Given the description of an element on the screen output the (x, y) to click on. 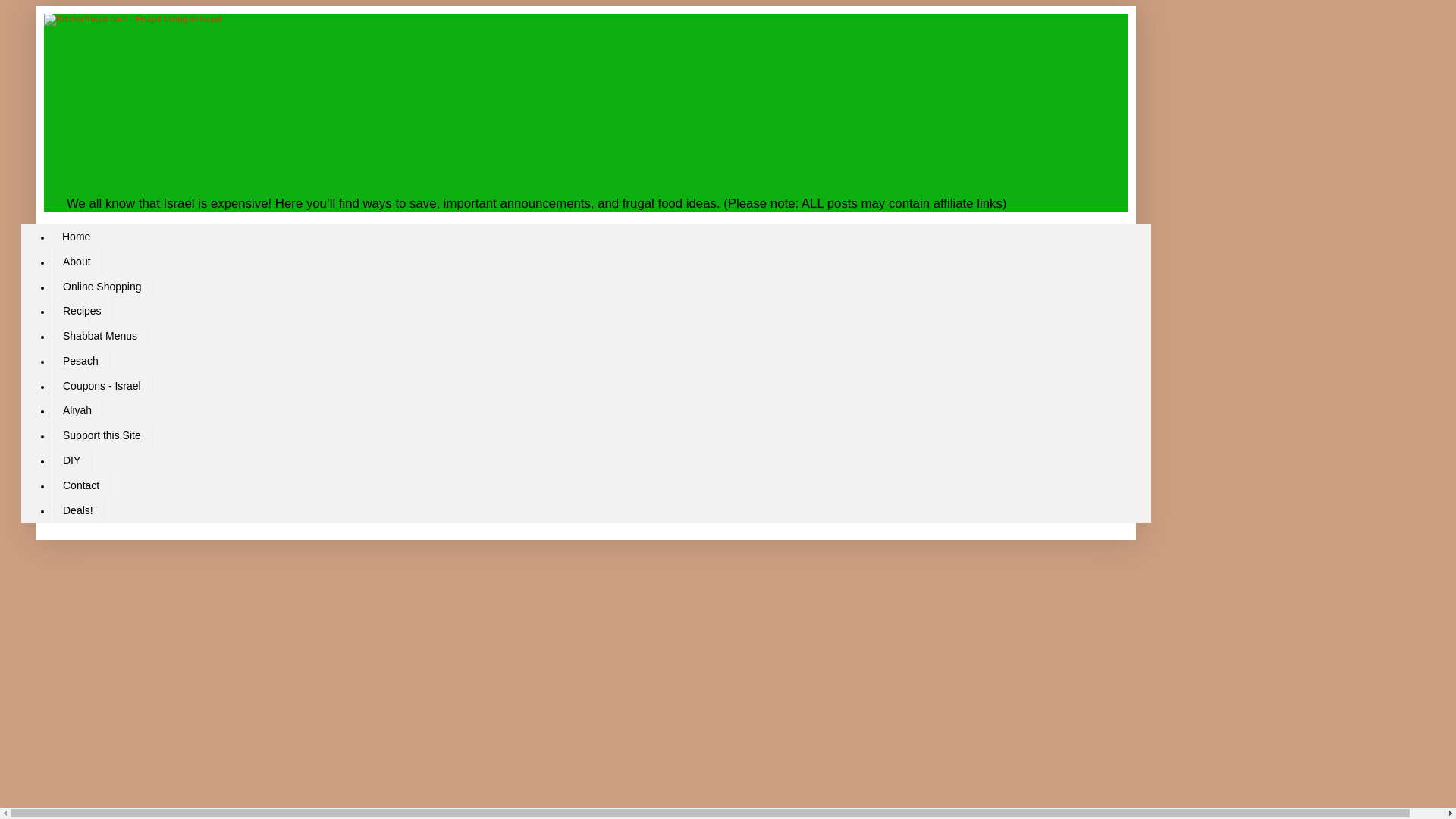
Contact (80, 484)
Recipes (81, 310)
Deals! (77, 509)
Home (75, 236)
Aliyah (76, 410)
Support this Site (101, 435)
Coupons - Israel (101, 385)
Online Shopping (101, 285)
Shabbat Menus (99, 335)
DIY (70, 460)
Pesach (80, 360)
About (75, 260)
